Given the description of an element on the screen output the (x, y) to click on. 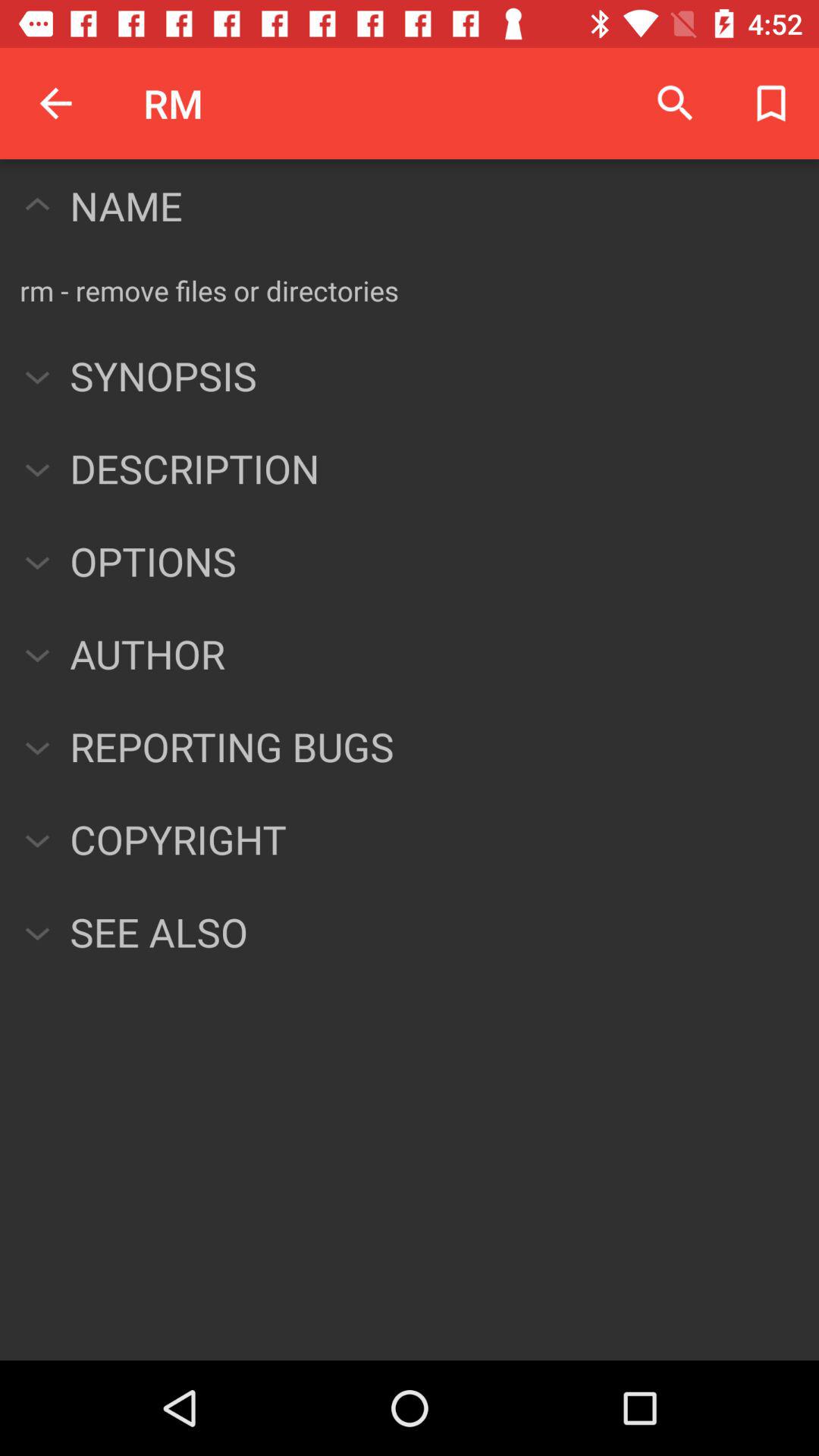
press item to the right of rm icon (675, 103)
